Given the description of an element on the screen output the (x, y) to click on. 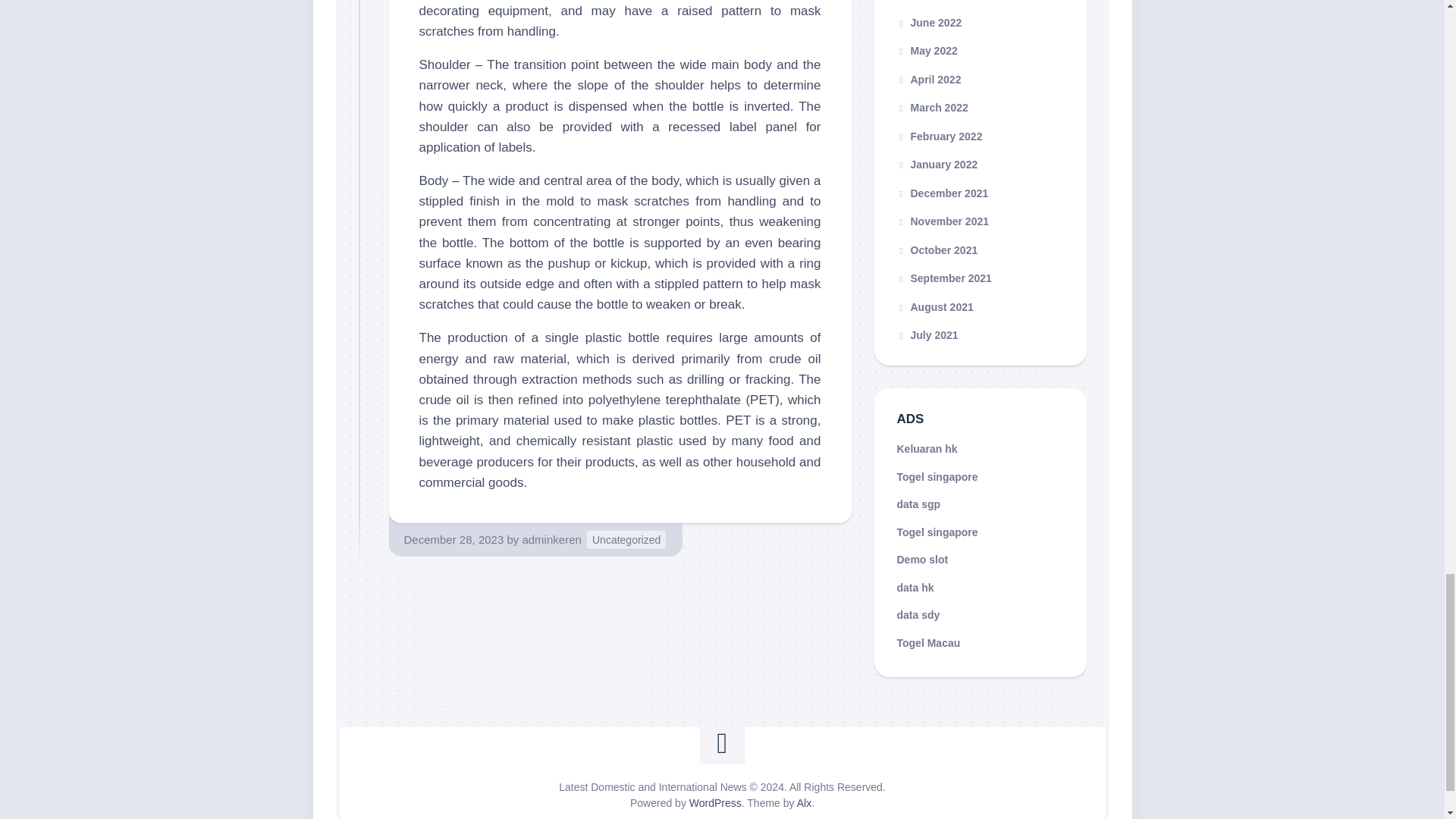
Uncategorized (625, 539)
Posts by adminkeren (550, 539)
adminkeren (550, 539)
